Given the description of an element on the screen output the (x, y) to click on. 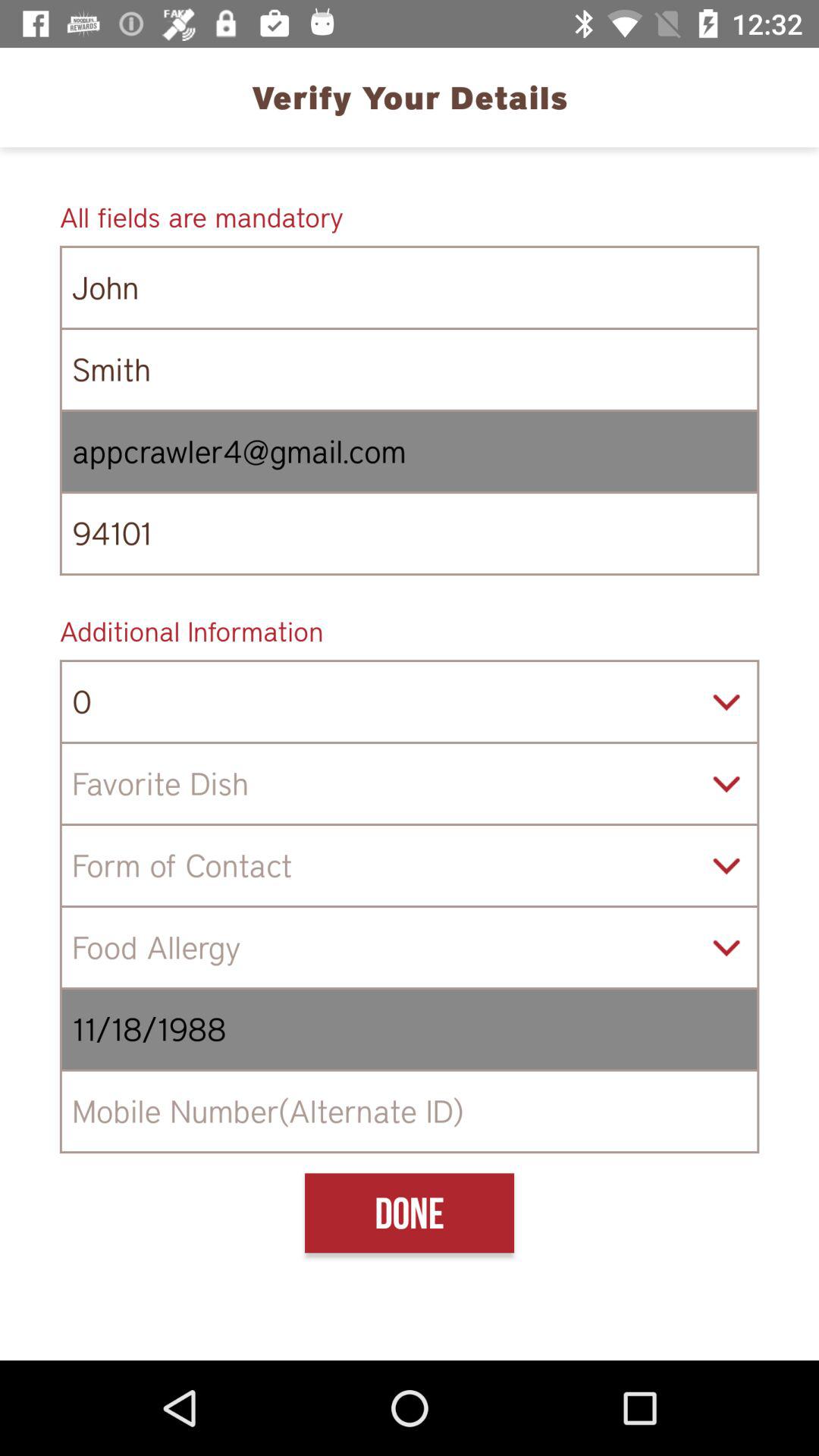
add preferred form of contact (409, 865)
